Given the description of an element on the screen output the (x, y) to click on. 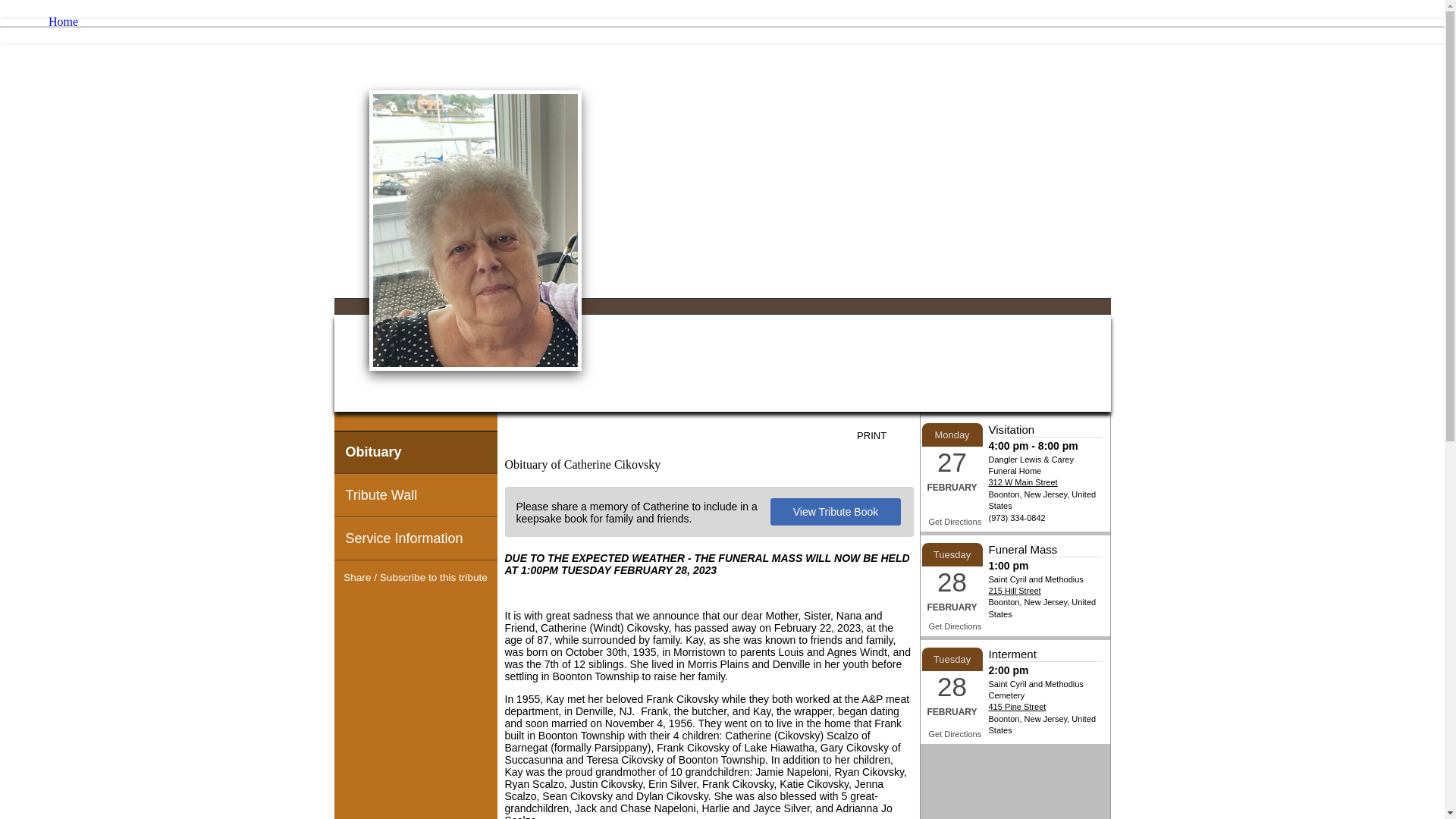
SIGN IN (1080, 53)
Print (882, 435)
View Tribute Book (835, 511)
Tribute Wall (414, 495)
Facebook (387, 606)
Obituary (414, 452)
Receive Notifications (442, 606)
Get Directions (954, 733)
Get Directions (954, 521)
Home (63, 21)
